Given the description of an element on the screen output the (x, y) to click on. 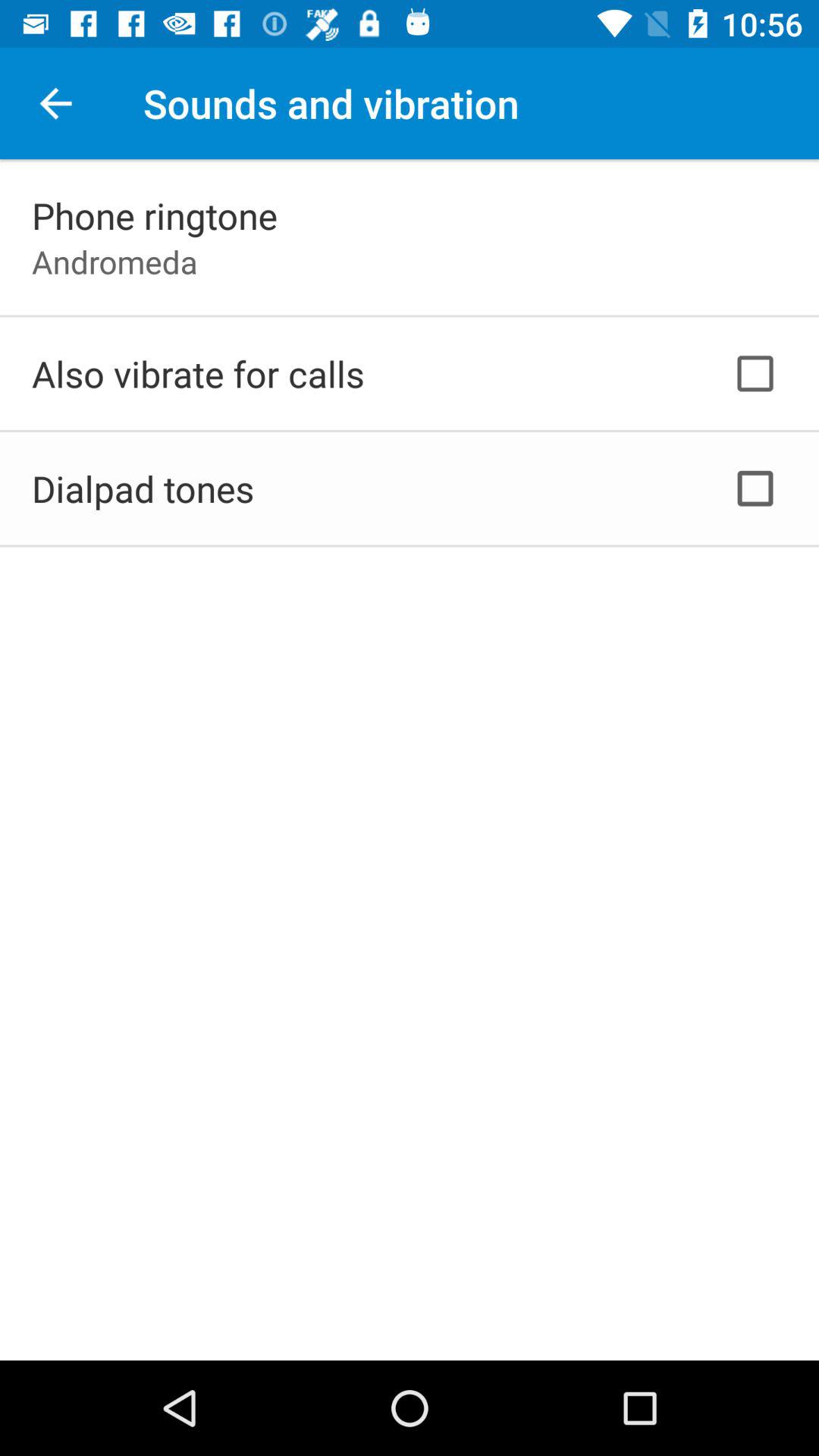
click the icon next to the sounds and vibration app (55, 103)
